Given the description of an element on the screen output the (x, y) to click on. 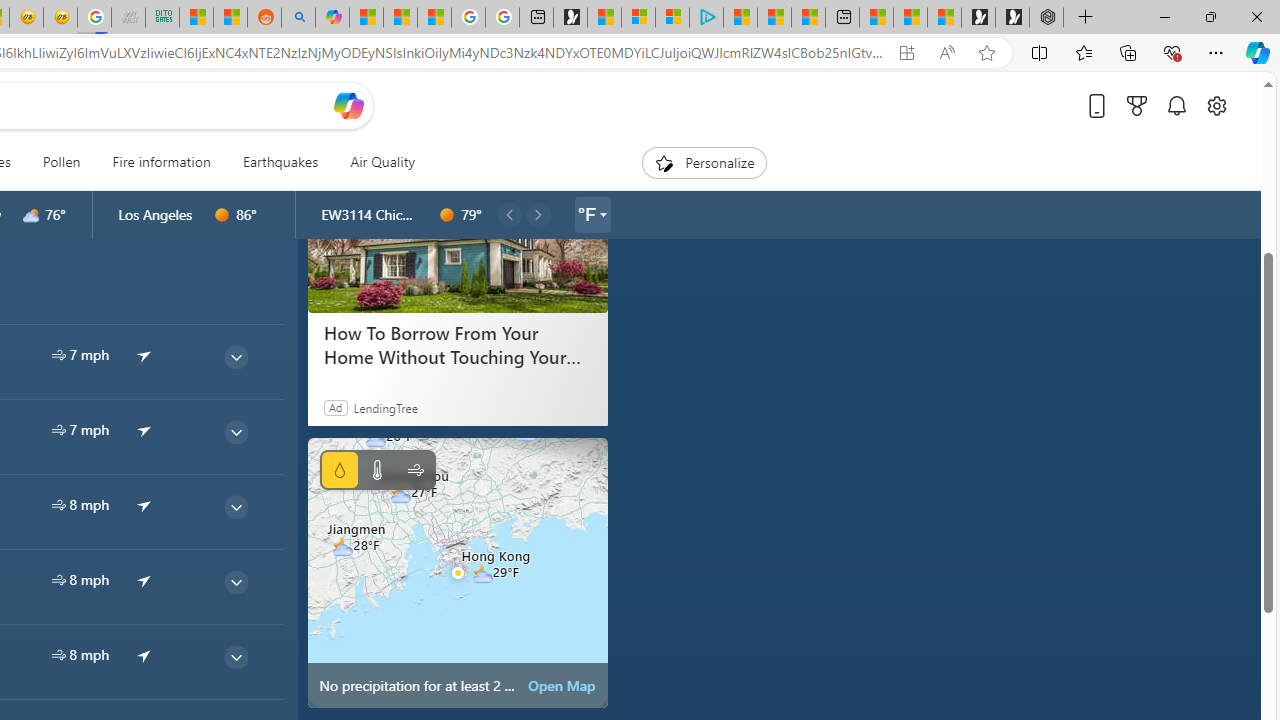
These 3 Stocks Pay You More Than 5% to Own Them (808, 17)
Air Quality (375, 162)
Pollen (61, 162)
Precipitation (339, 470)
Fire information (161, 162)
hourlyTable/wind (58, 654)
